Given the description of an element on the screen output the (x, y) to click on. 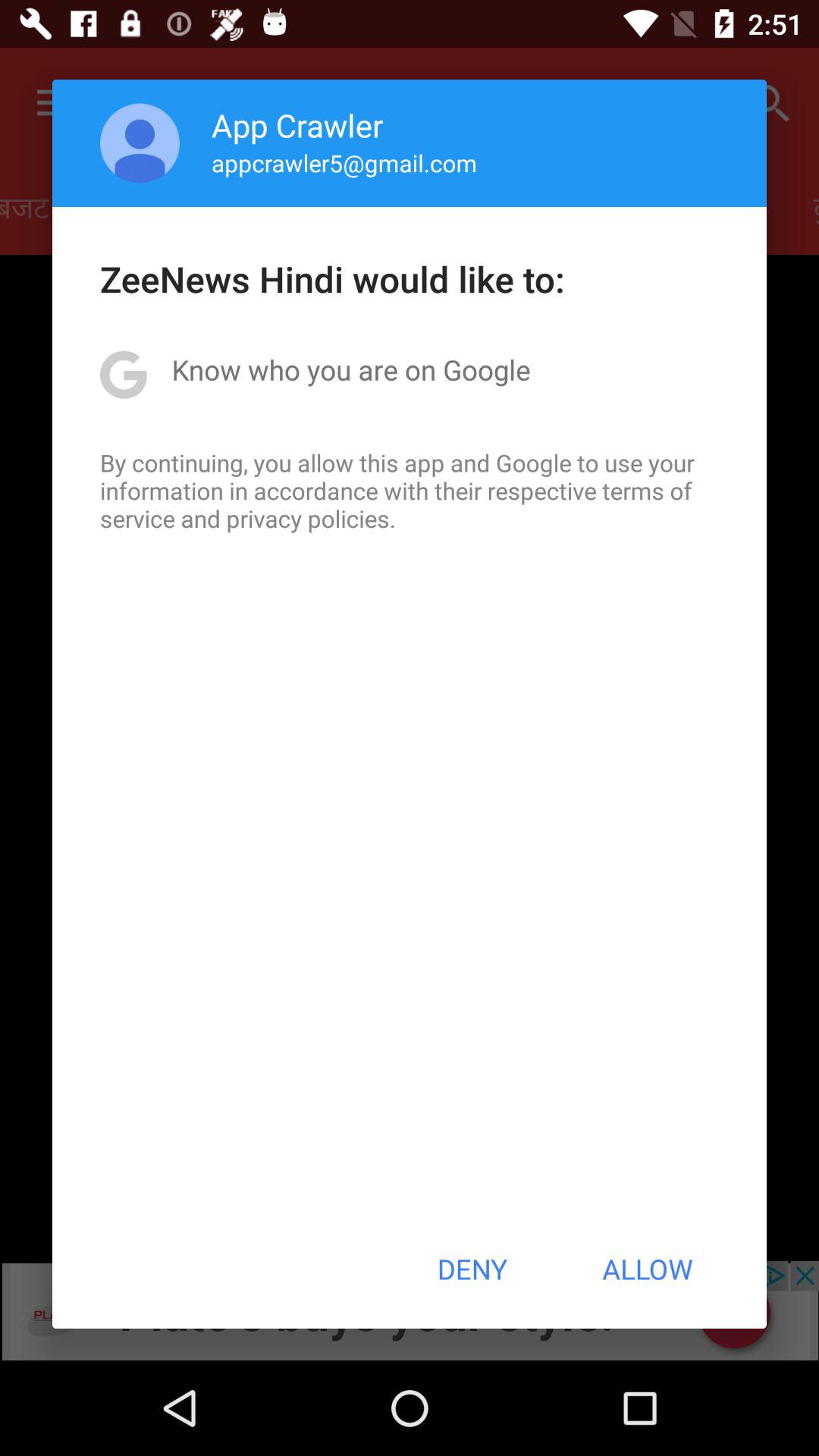
launch app crawler (297, 124)
